Given the description of an element on the screen output the (x, y) to click on. 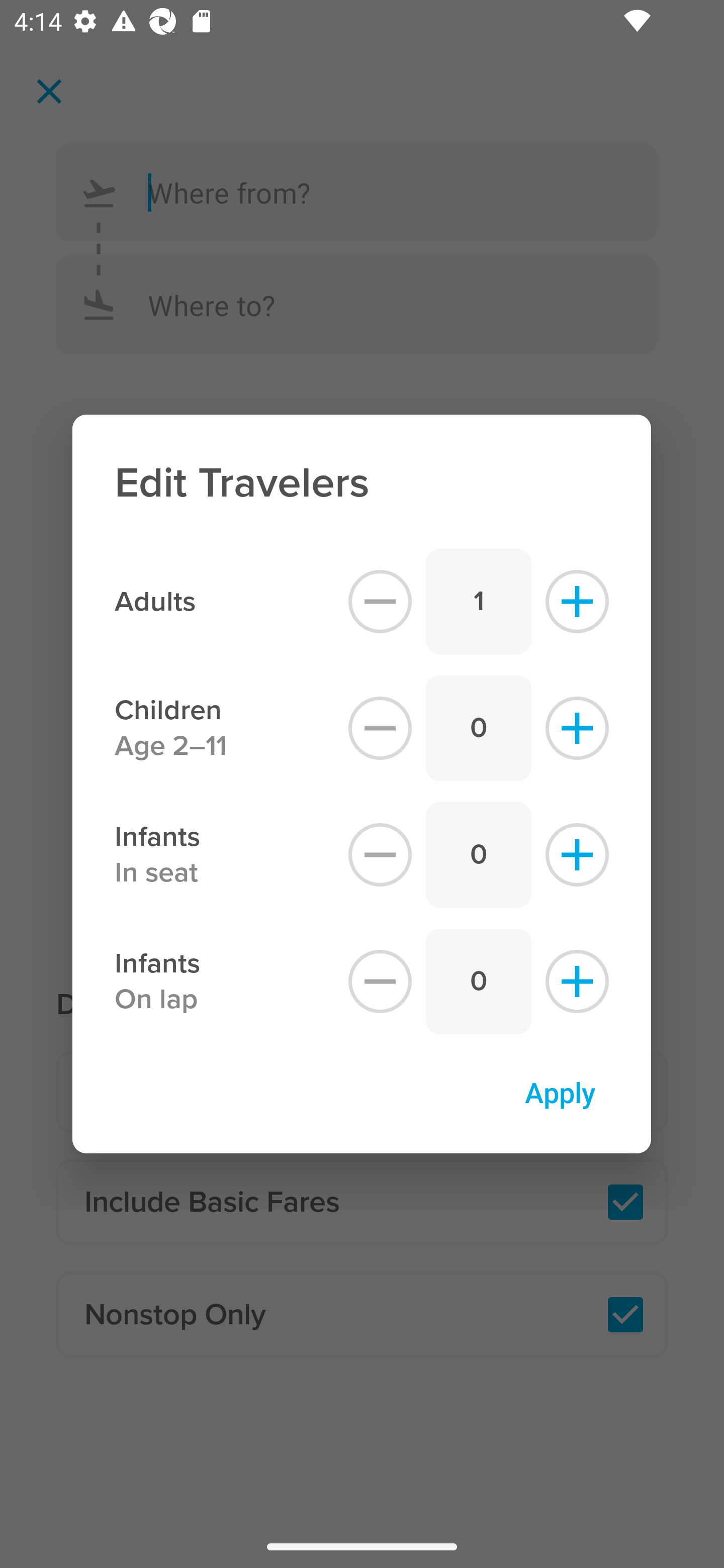
Decrease value (379, 600)
Increase value (576, 600)
Decrease value (379, 727)
Increase value (576, 727)
Decrease value (379, 854)
Increase value (576, 854)
Decrease value (379, 981)
Increase value (576, 981)
Apply (559, 1091)
